Given the description of an element on the screen output the (x, y) to click on. 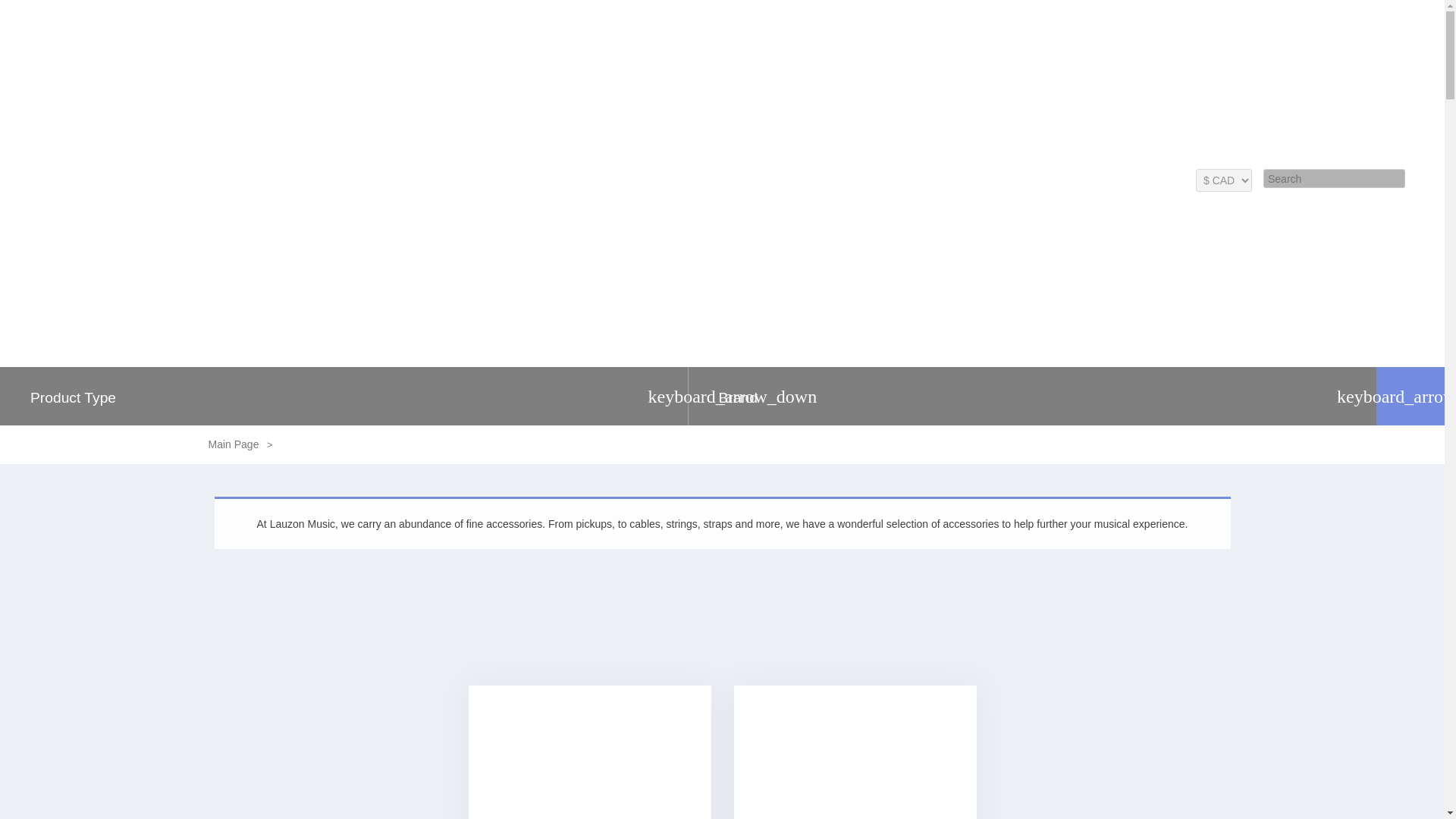
About (985, 178)
PRO AUDIO (1249, 210)
PIANOS (1072, 210)
613-725-1116 (1337, 141)
0 items (1148, 181)
PRE ORDERS (940, 210)
AMPS (1125, 210)
Lessons (943, 178)
NEW ARRIVALS (852, 210)
Repairs (896, 178)
Start shopping (1148, 181)
Contact (1027, 178)
EFFECTS (1180, 210)
Employment (1083, 178)
GUITARS (1012, 210)
